Given the description of an element on the screen output the (x, y) to click on. 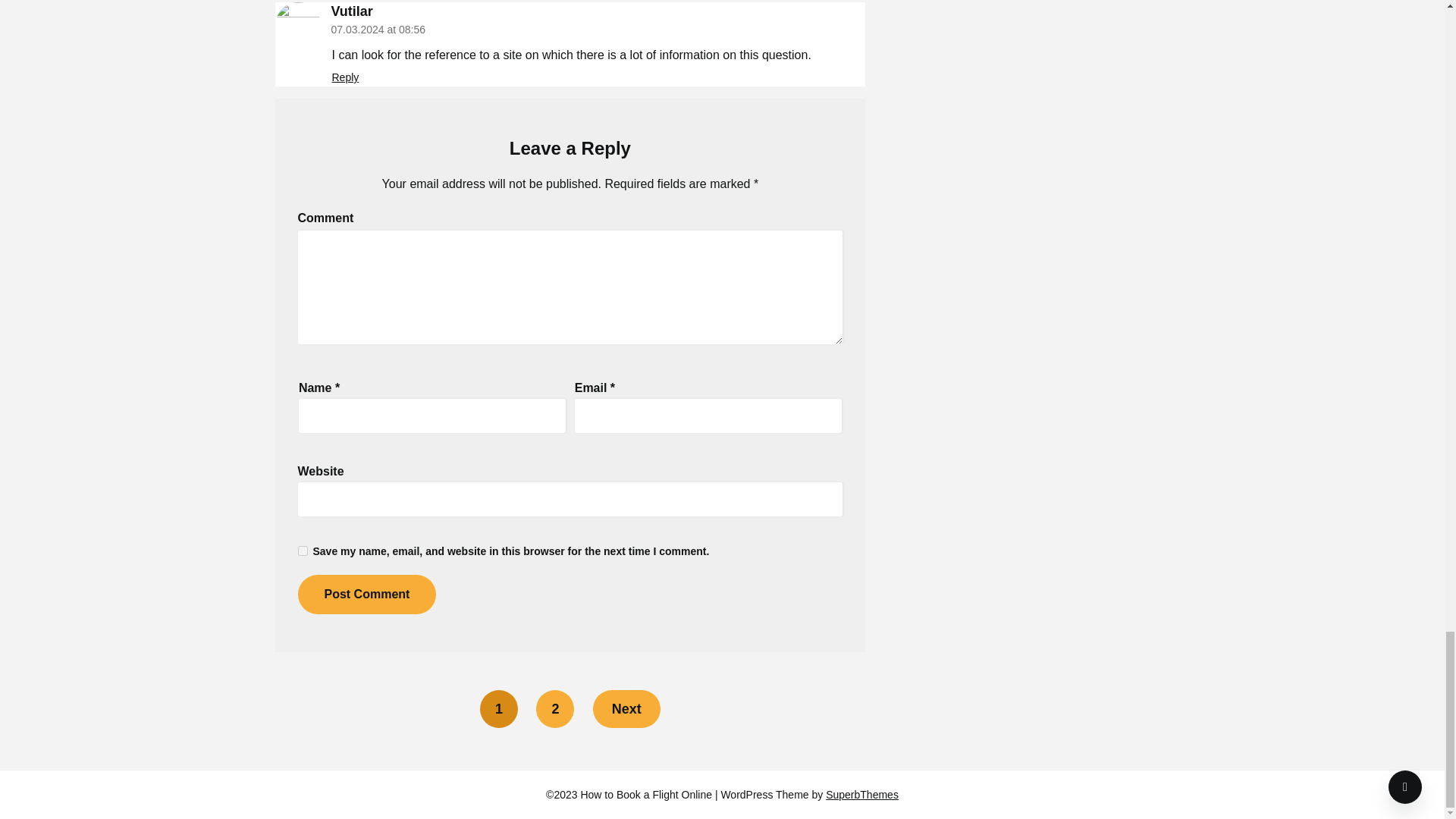
07.03.2024 at 08:56 (377, 29)
yes (302, 551)
Post Comment (366, 594)
2 (554, 709)
Next (626, 709)
Reply (345, 77)
Post Comment (366, 594)
